Given the description of an element on the screen output the (x, y) to click on. 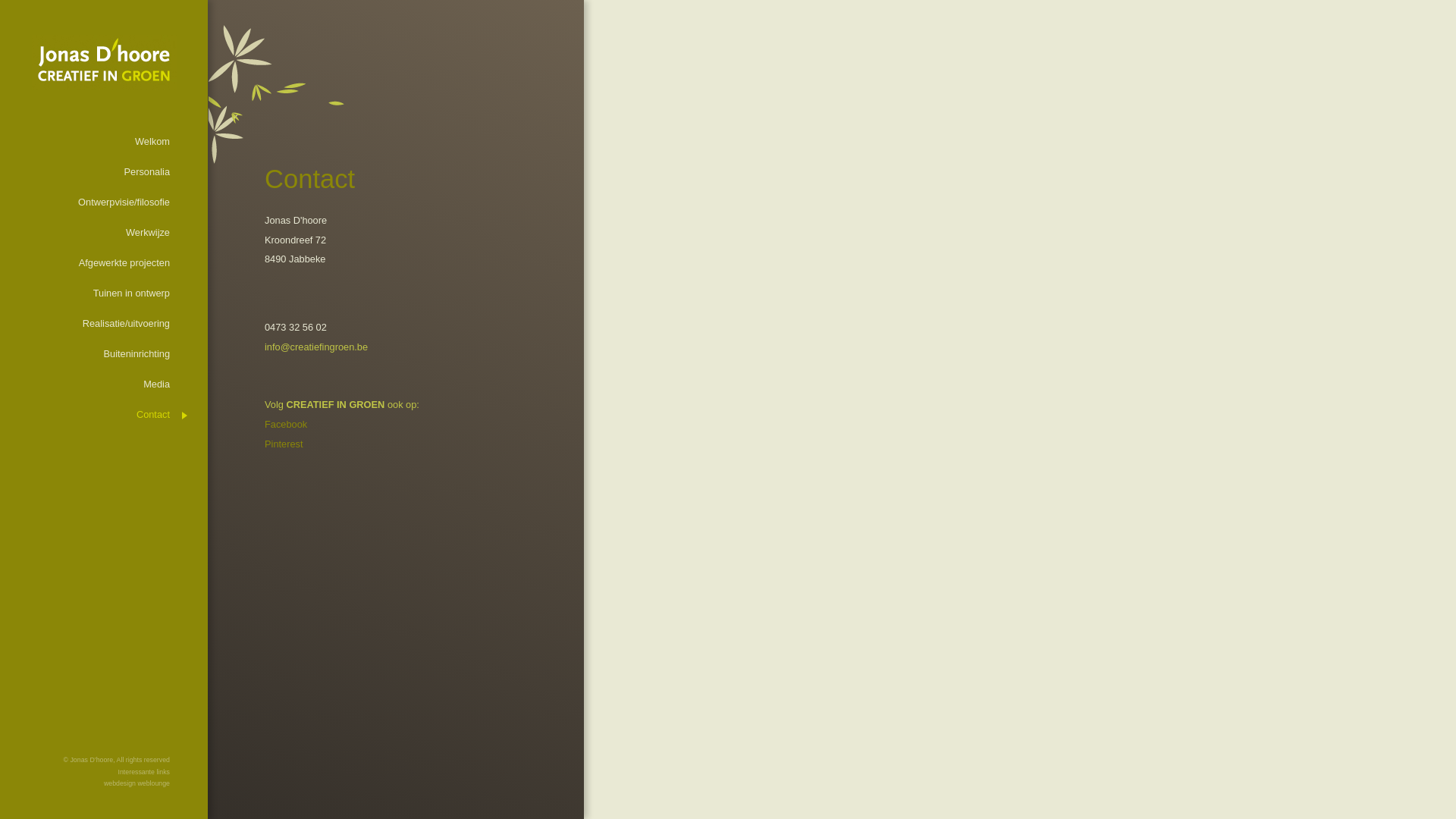
Facebook Element type: text (285, 423)
Werkwijze Element type: text (90, 232)
webdesign weblounge Element type: text (136, 783)
Creatief in groen Element type: hover (265, 646)
Afgewerkte projecten Element type: text (90, 262)
Realisatie/uitvoering Element type: text (90, 323)
Contact Element type: text (90, 414)
  Element type: text (265, 472)
  Element type: text (265, 501)
Pinterest Element type: text (283, 443)
Interessante links Element type: text (143, 771)
Creatief in groen Element type: hover (265, 530)
info@creatiefingroen.be Element type: text (315, 346)
Welkom Element type: text (90, 141)
Buiteninrichting Element type: text (90, 353)
Tuinen in ontwerp Element type: text (90, 293)
Media Element type: text (90, 384)
  Element type: text (265, 530)
Ontwerpvisie/filosofie Element type: text (90, 202)
Personalia Element type: text (90, 171)
  Element type: text (265, 646)
